Given the description of an element on the screen output the (x, y) to click on. 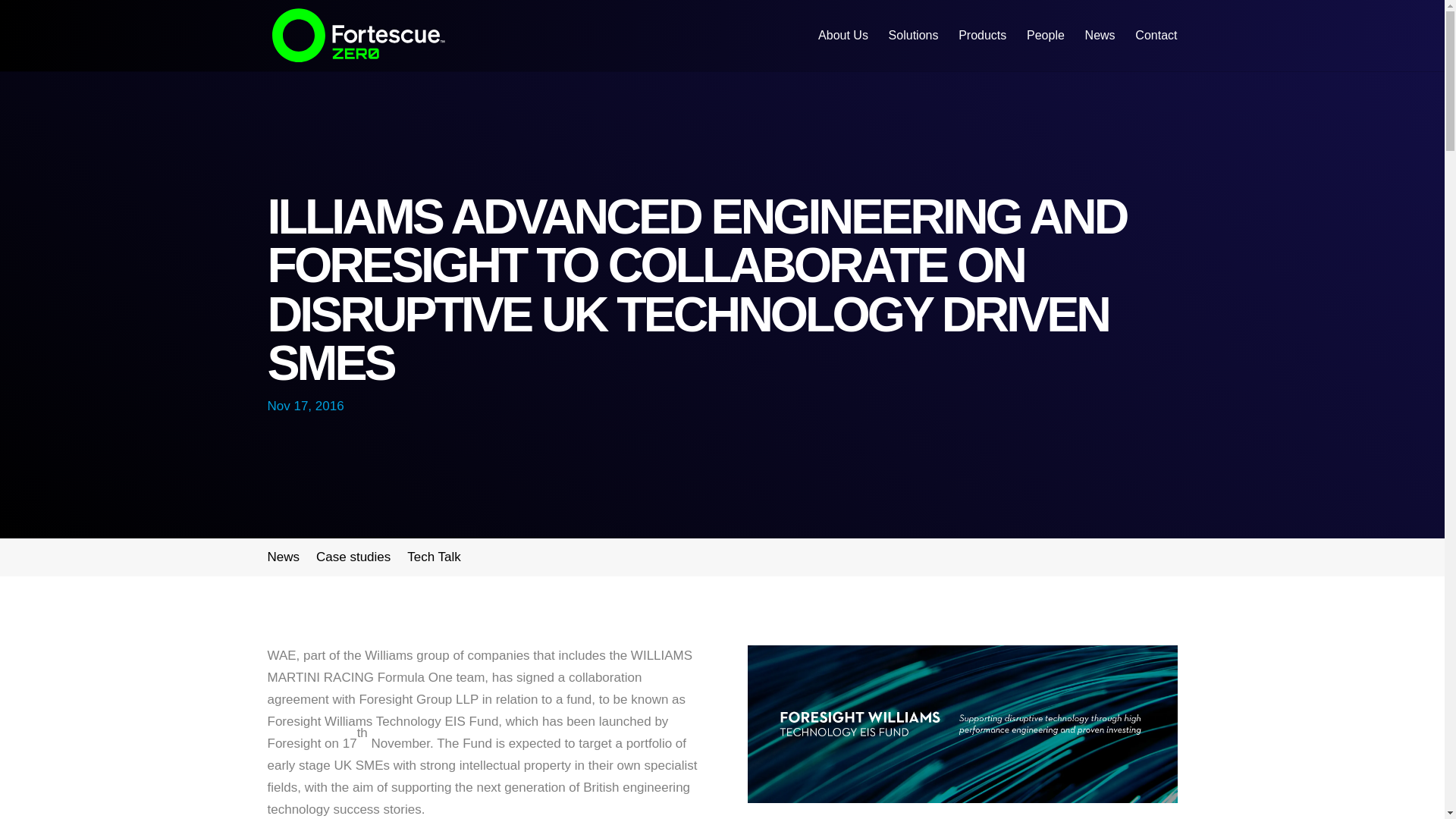
Contact (1155, 50)
About Us (842, 50)
People (1045, 50)
Foresight (962, 724)
Products (982, 50)
Solutions (913, 50)
